Given the description of an element on the screen output the (x, y) to click on. 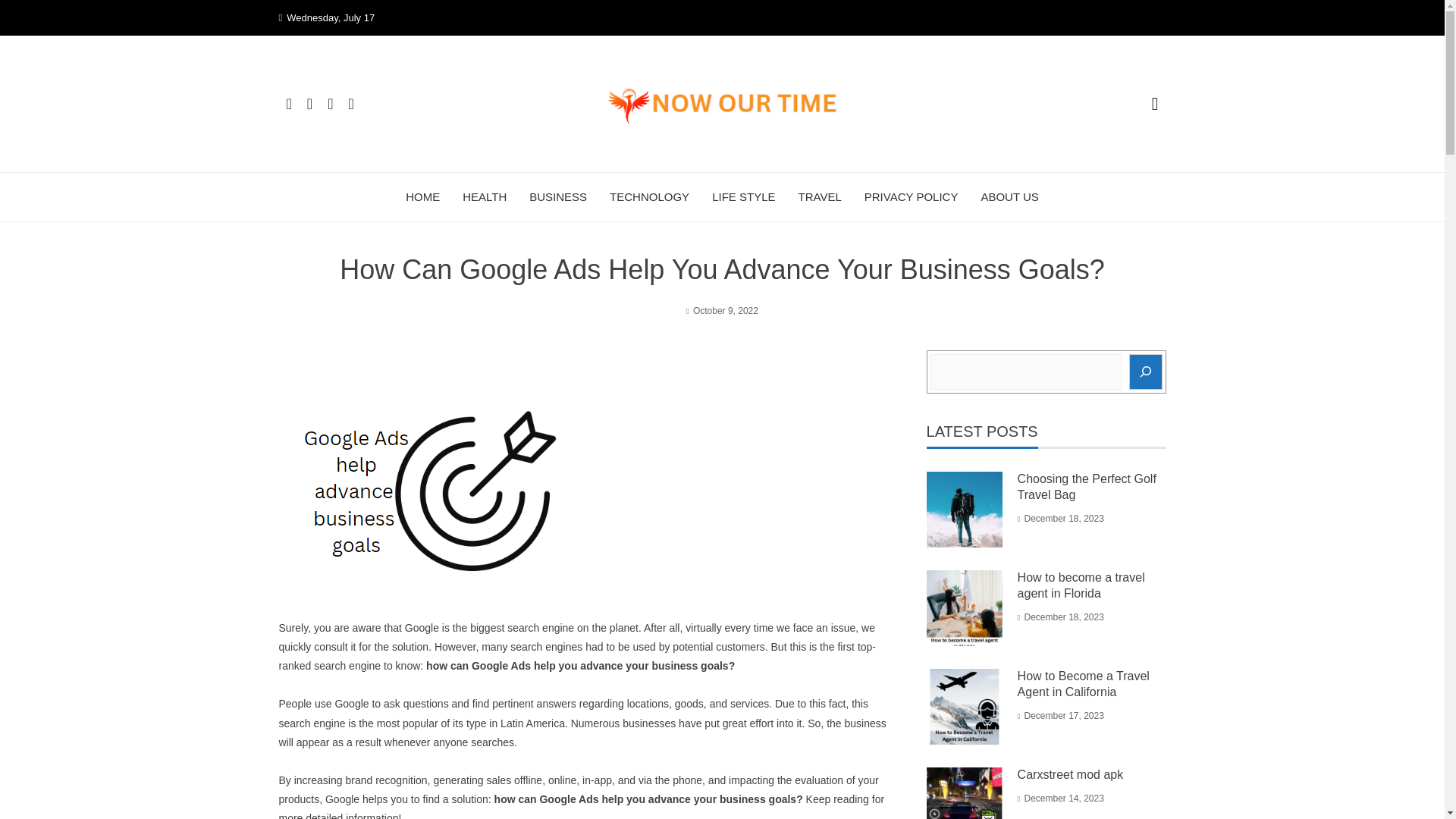
TECHNOLOGY (649, 197)
BUSINESS (557, 197)
PRIVACY POLICY (911, 197)
Carxstreet mod apk (1070, 774)
How to Become a Travel Agent in California (1083, 683)
TRAVEL (819, 197)
ABOUT US (1008, 197)
how can Google Ads help you advance your business goals? (580, 665)
How to become a travel agent in Florida (1080, 584)
HEALTH (484, 197)
HOME (422, 197)
LIFE STYLE (742, 197)
Choosing the Perfect Golf Travel Bag (1086, 486)
